Given the description of an element on the screen output the (x, y) to click on. 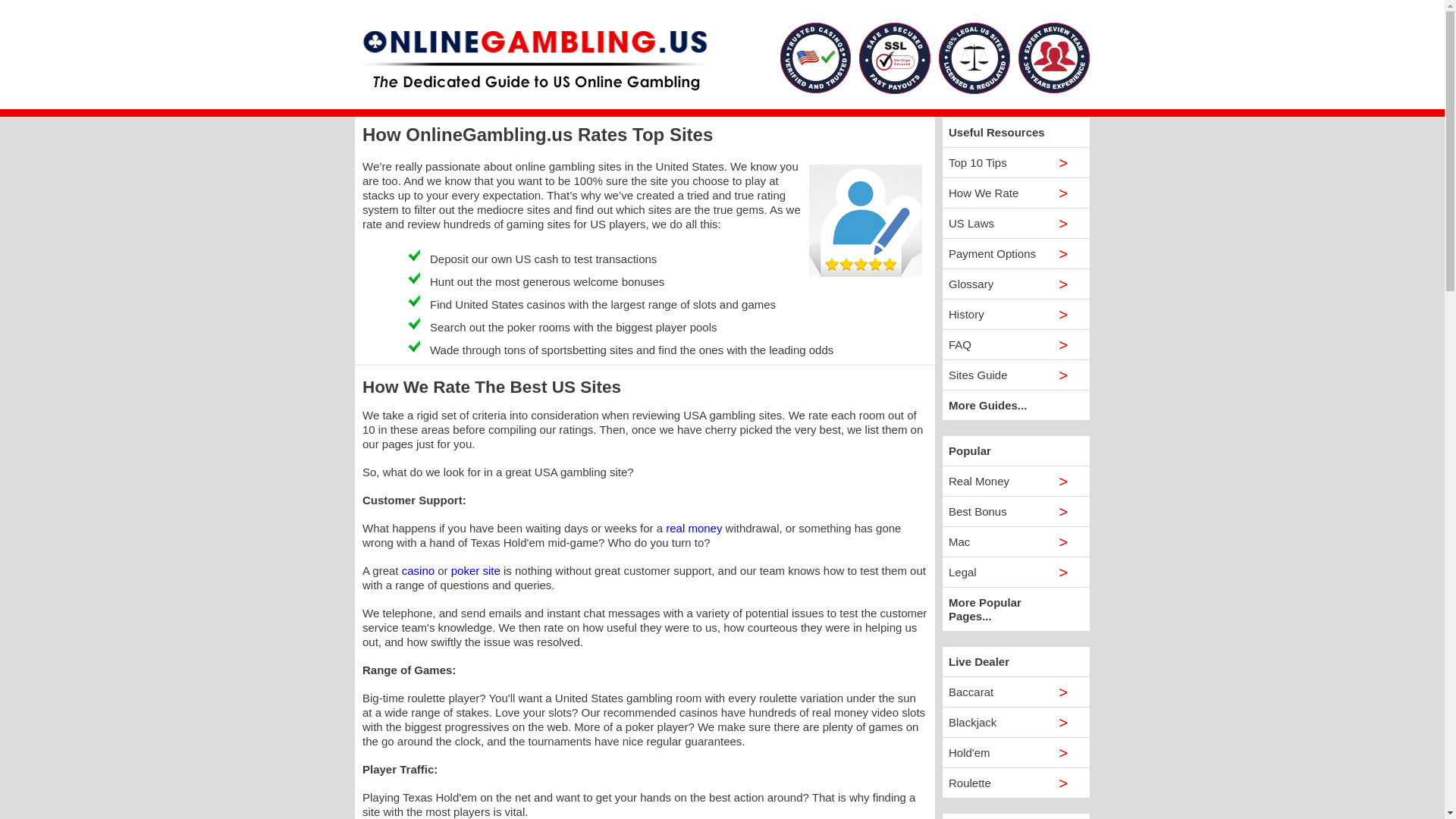
More Guides... (1015, 405)
Popular (1015, 450)
Best Bonus (1015, 511)
poker site (475, 570)
Live Dealer (1015, 661)
More Popular Pages... (1015, 609)
Real Money (1015, 481)
Glossary (1015, 283)
Top 10 Tips (1015, 162)
sportsbetting (574, 349)
Legal (1015, 572)
real money (693, 527)
How We Rate (1015, 193)
Payment Options (1015, 253)
US Laws (1015, 223)
